Given the description of an element on the screen output the (x, y) to click on. 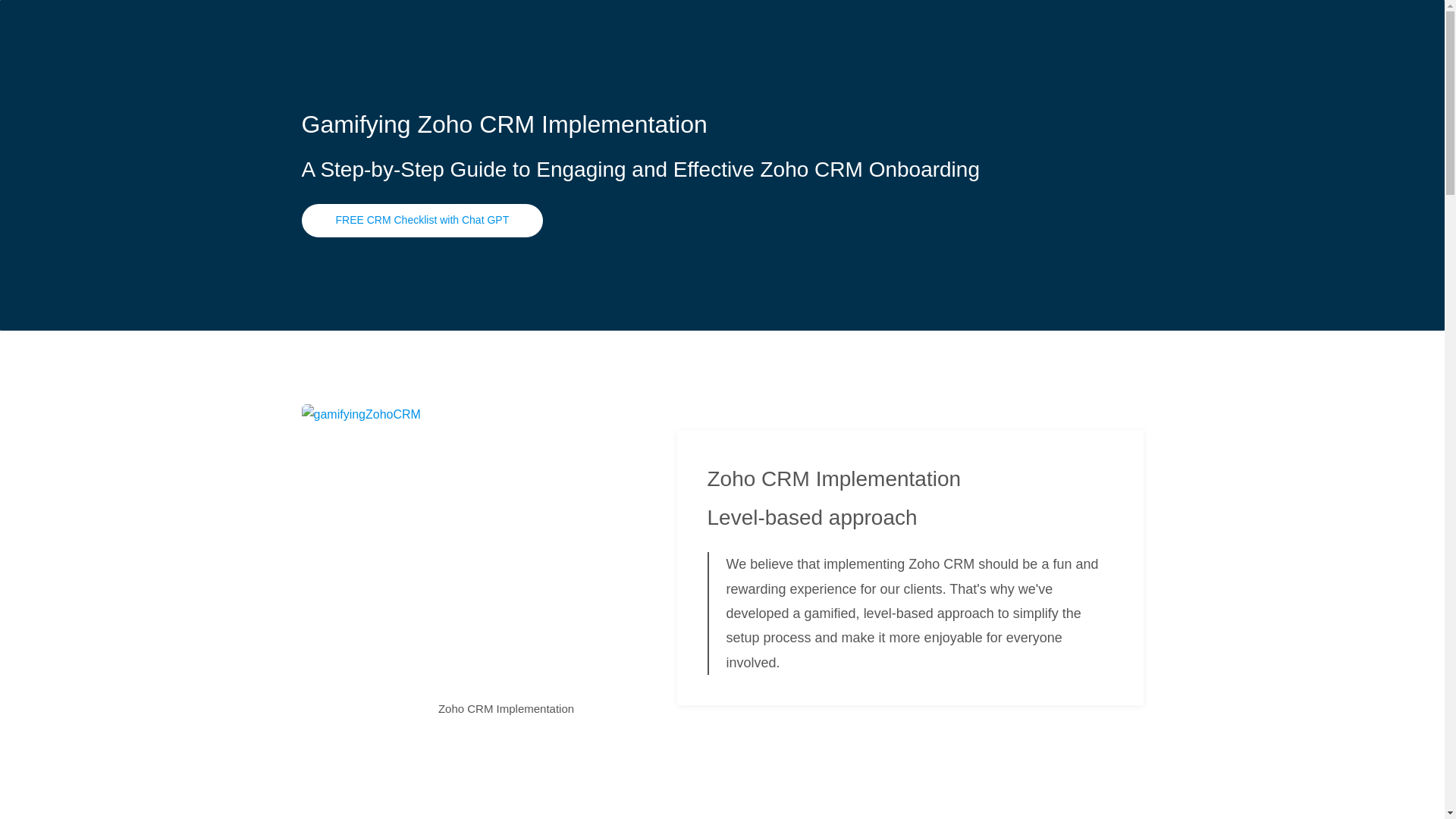
FREE CRM Checklist with Chat GPT (422, 220)
CRM Implementation checklist (422, 220)
gamifyingZohoCRM (506, 545)
